Given the description of an element on the screen output the (x, y) to click on. 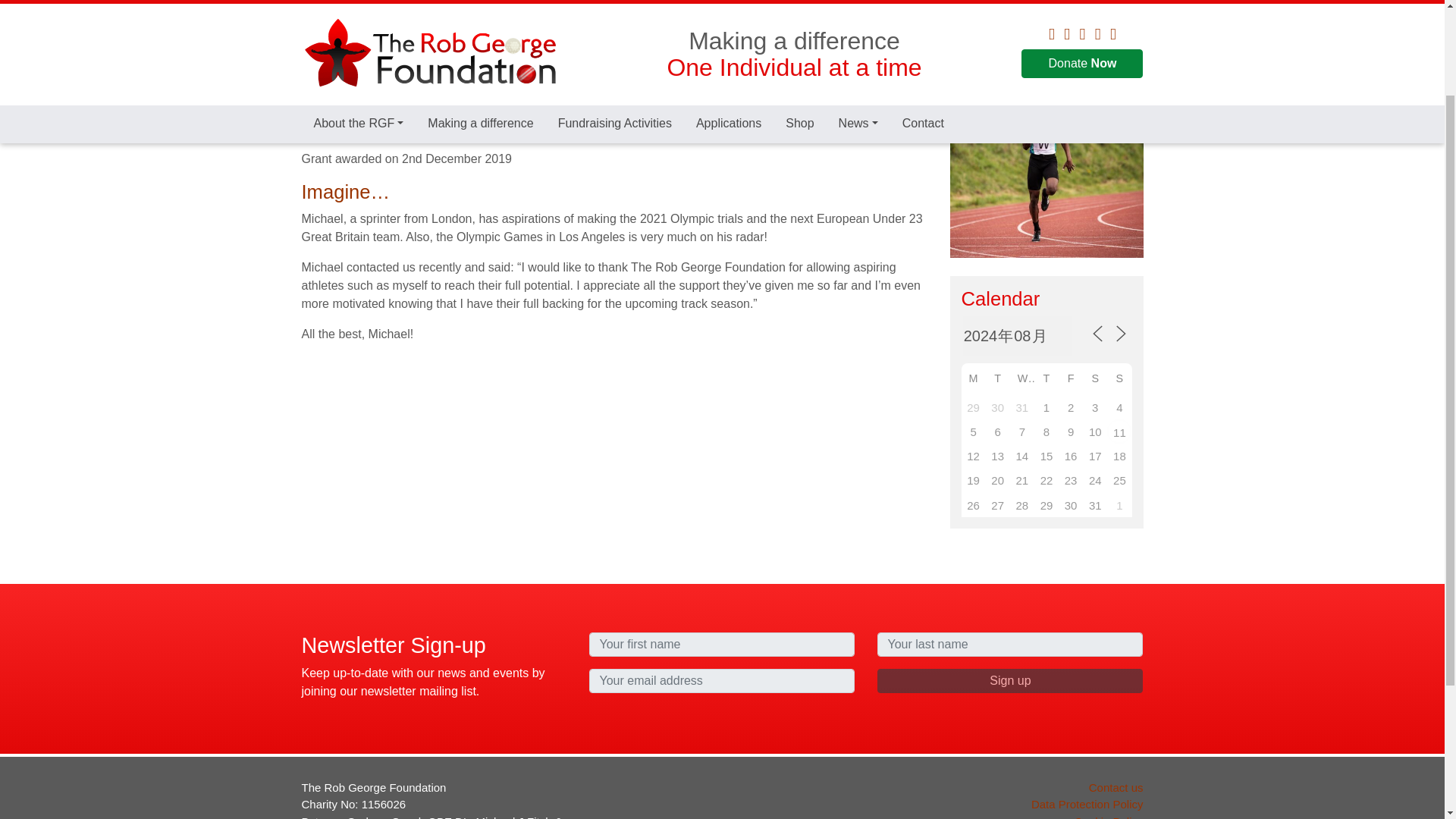
Home (315, 59)
Making a difference (479, 10)
Shop (799, 10)
News (858, 10)
Fundraising Activities (615, 10)
Shop (799, 10)
11 (1118, 431)
Data Protection Policy (1086, 803)
Applications (728, 10)
About the RGF (358, 10)
News (858, 10)
About the RGF (358, 10)
Contact us (1115, 787)
Sign up (1009, 680)
Making a difference (479, 10)
